Given the description of an element on the screen output the (x, y) to click on. 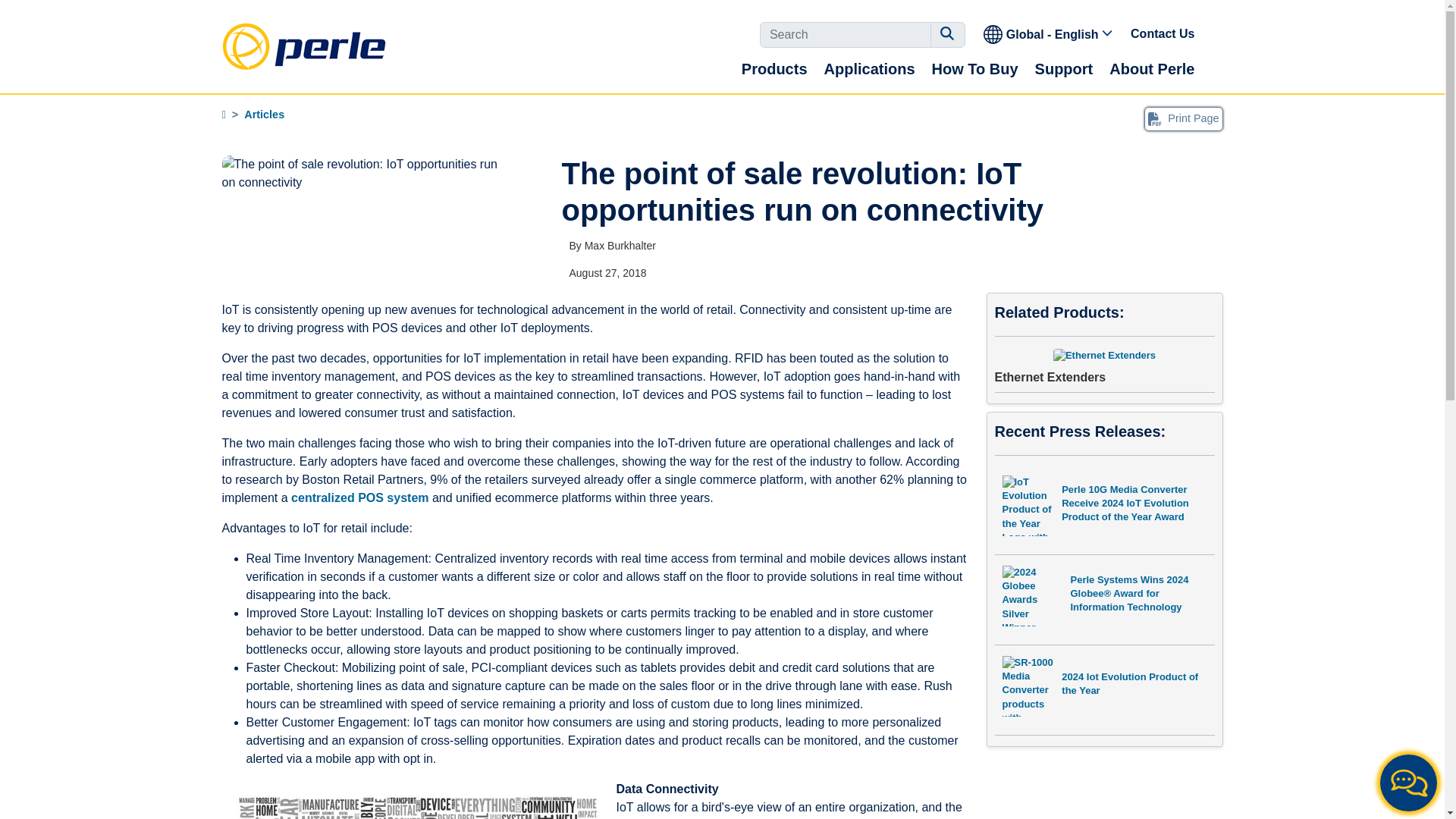
Ethernet Extenders (1104, 366)
centralized POS system (359, 497)
How To Buy (974, 68)
Print Page (1183, 119)
Articles (263, 114)
About Perle (1151, 68)
Support (1063, 68)
Contact Us (1162, 33)
Products (774, 68)
Articles (263, 114)
